Given the description of an element on the screen output the (x, y) to click on. 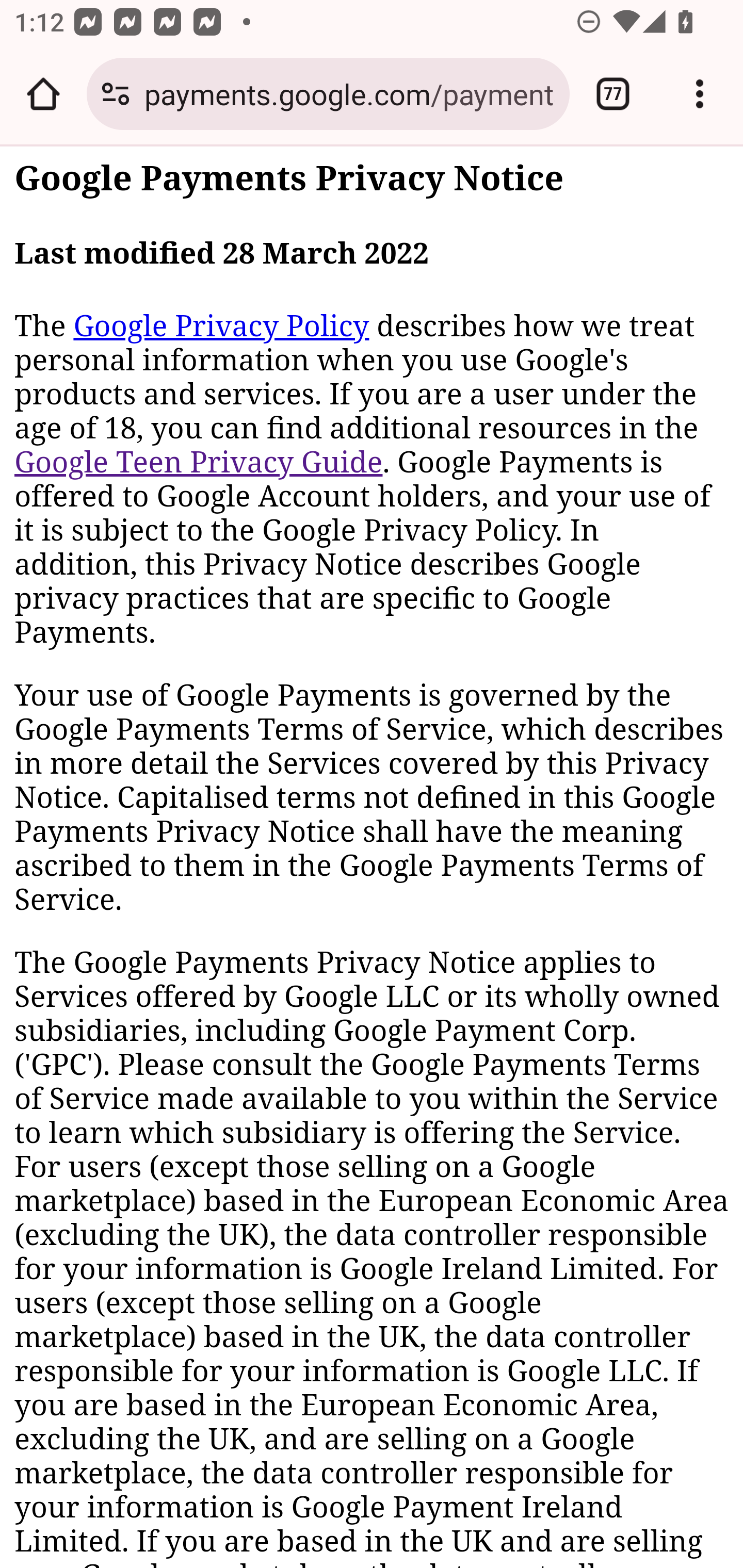
Open the home page (43, 93)
Connection is secure (115, 93)
Switch or close tabs (612, 93)
Customize and control Google Chrome (699, 93)
Google Privacy Policy (221, 326)
Google Teen Privacy Guide (199, 461)
